Given the description of an element on the screen output the (x, y) to click on. 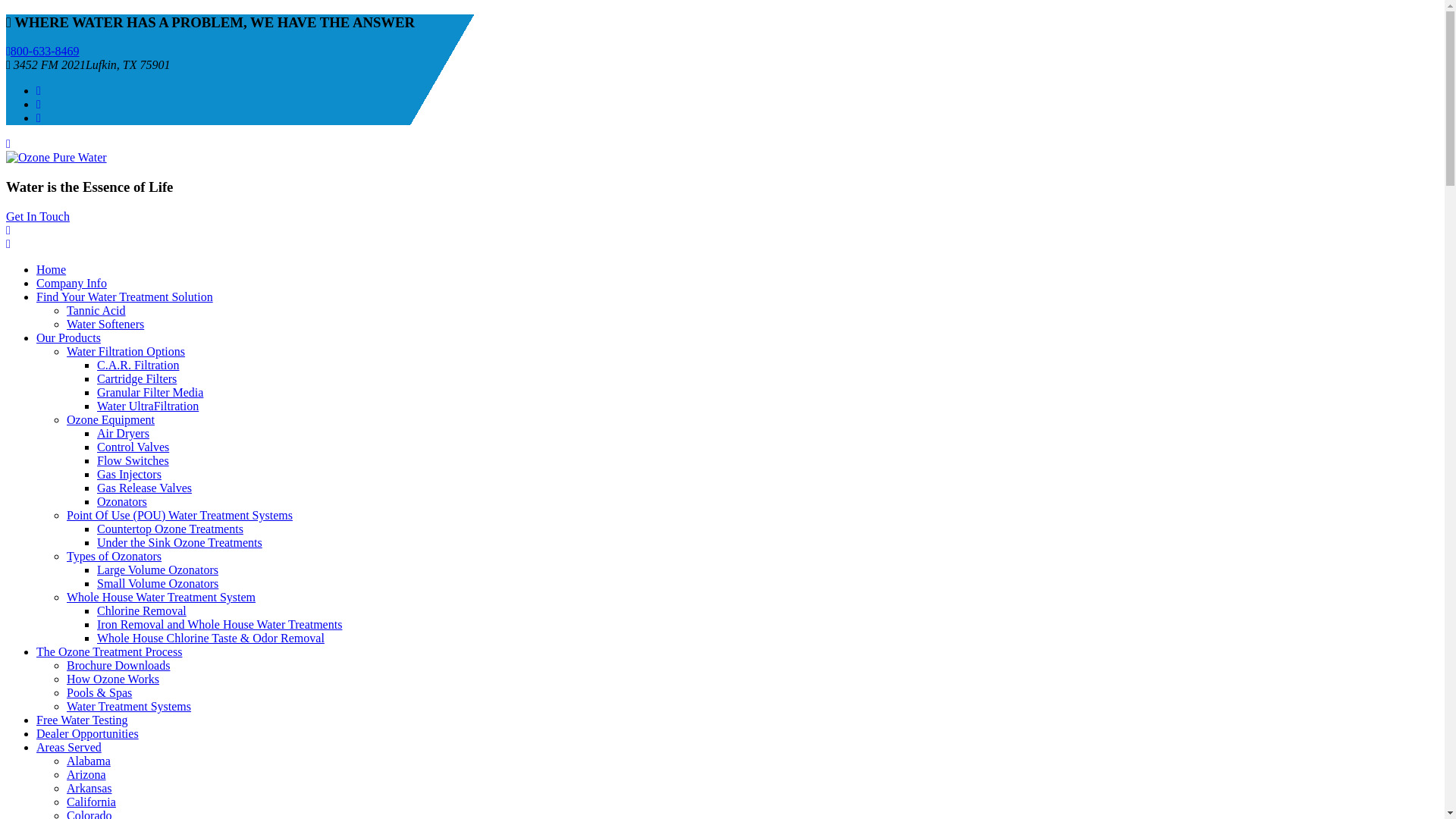
Granular Filter Media (150, 391)
How Ozone Works (112, 678)
C.A.R. Filtration (138, 364)
Get In Touch (37, 215)
Ozonators (122, 501)
Iron Removal and Whole House Water Treatments (219, 624)
Water UltraFiltration (147, 405)
800-633-8469 (42, 51)
Gas Release Valves (144, 487)
Small Volume Ozonators (157, 583)
